Given the description of an element on the screen output the (x, y) to click on. 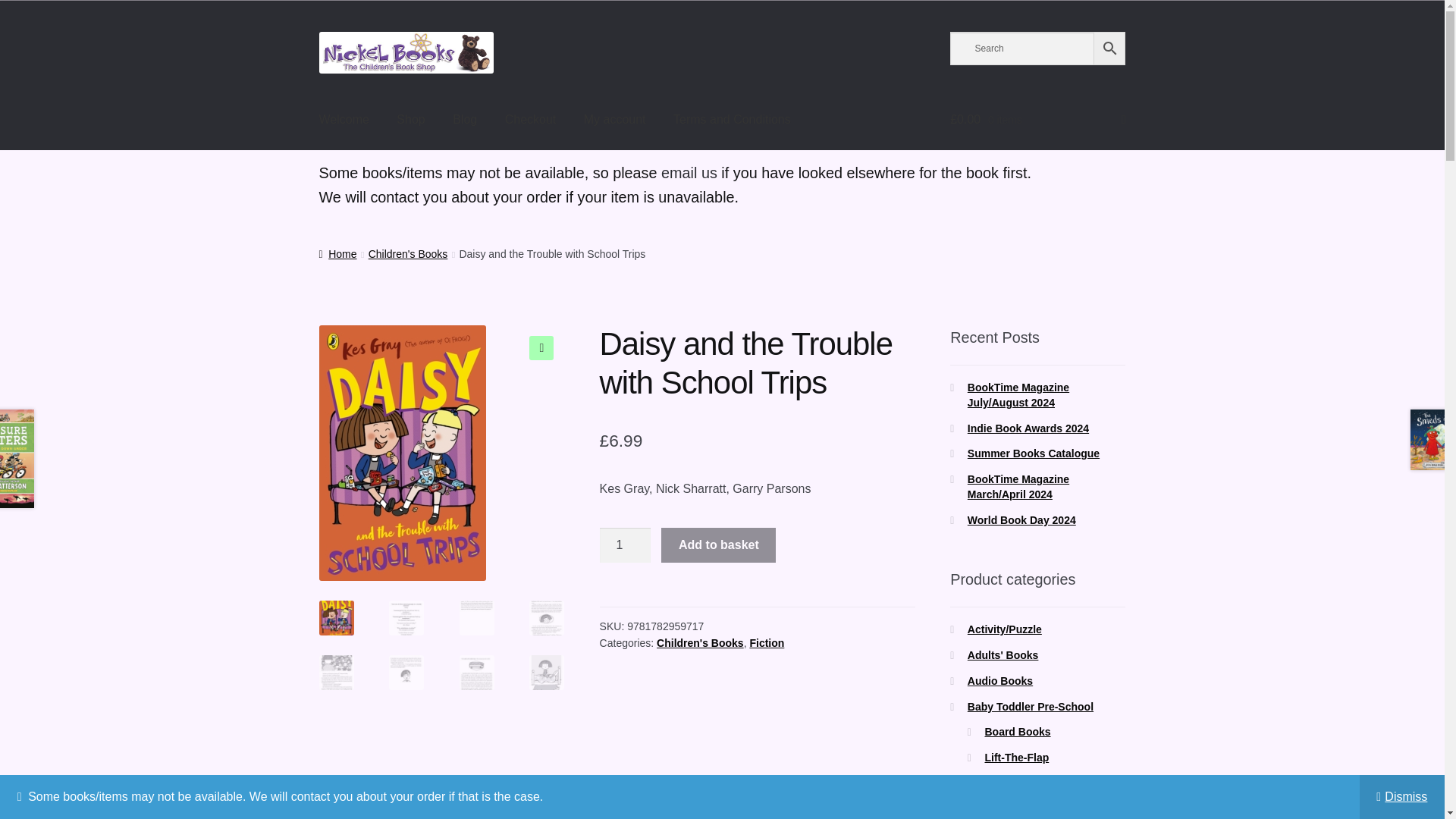
Children's Books (700, 643)
Fiction (766, 643)
Description (406, 803)
Welcome (344, 119)
Terms and Conditions (732, 119)
View your shopping basket (1037, 119)
Home (337, 254)
Add to basket (718, 544)
1 (624, 544)
Children's Books (408, 254)
email us (689, 172)
Checkout (531, 119)
My account (615, 119)
